Given the description of an element on the screen output the (x, y) to click on. 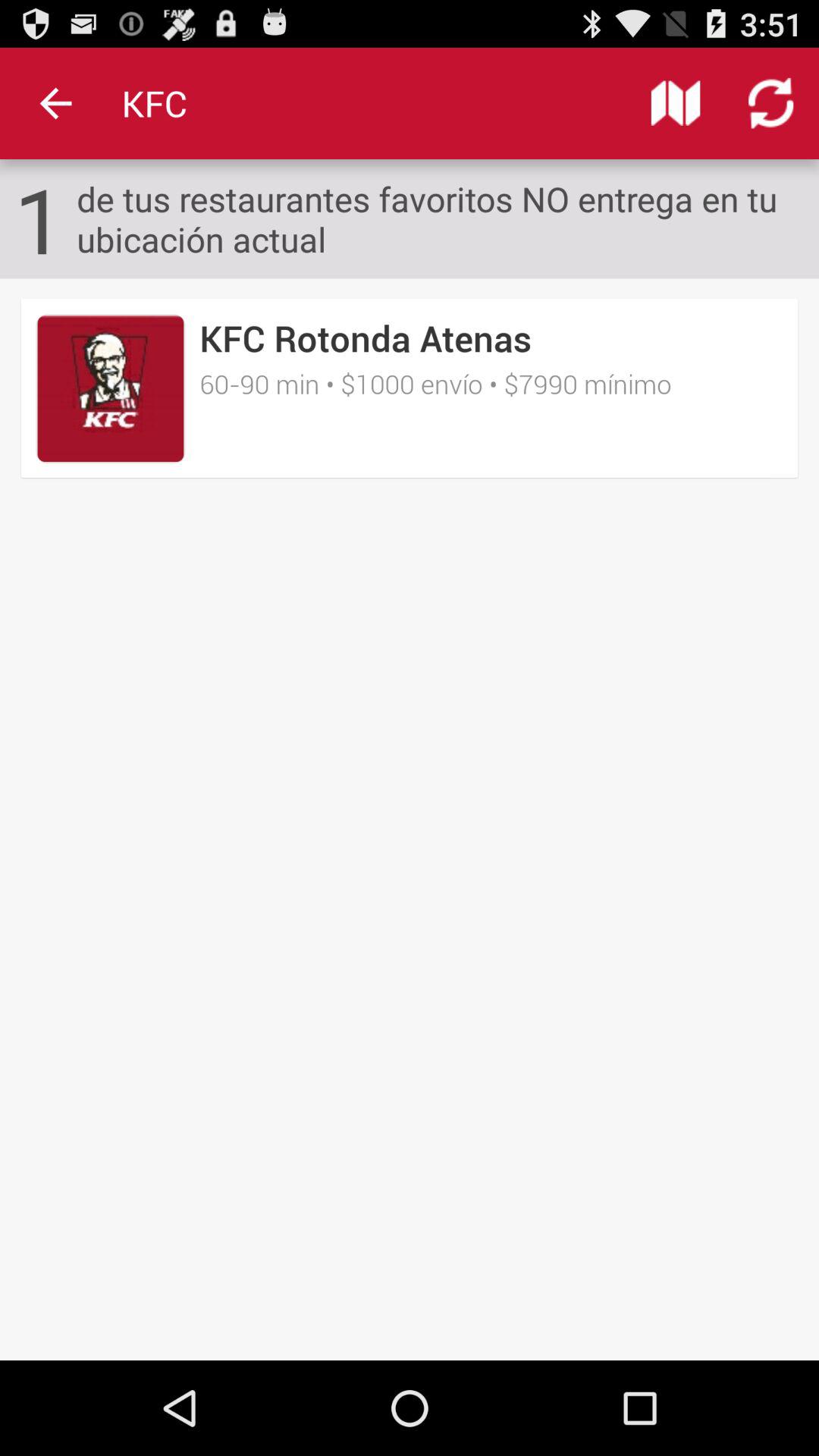
tap icon above the de tus restaurantes icon (675, 103)
